Given the description of an element on the screen output the (x, y) to click on. 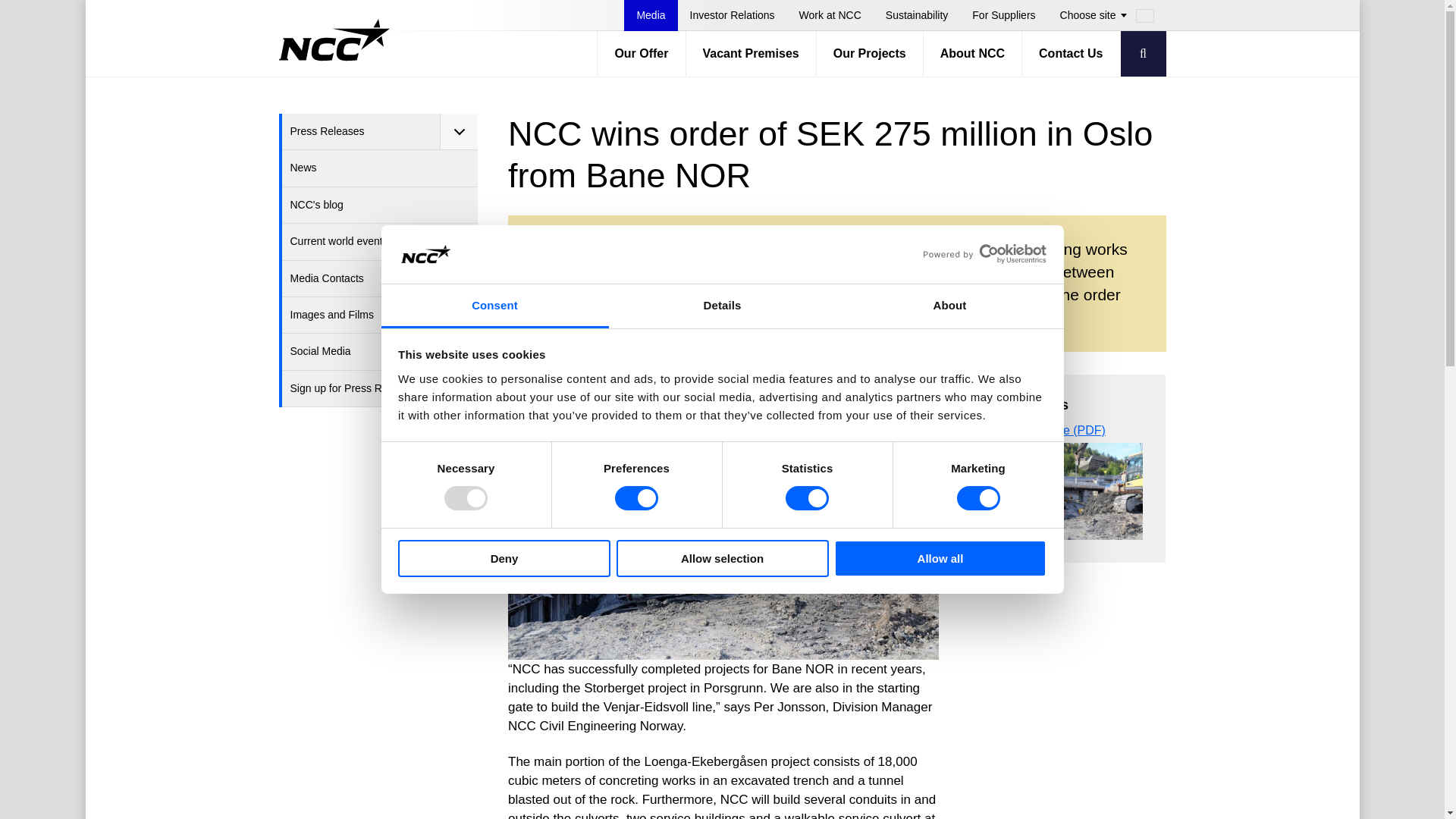
Details (721, 306)
Consent (494, 306)
About (948, 306)
